Given the description of an element on the screen output the (x, y) to click on. 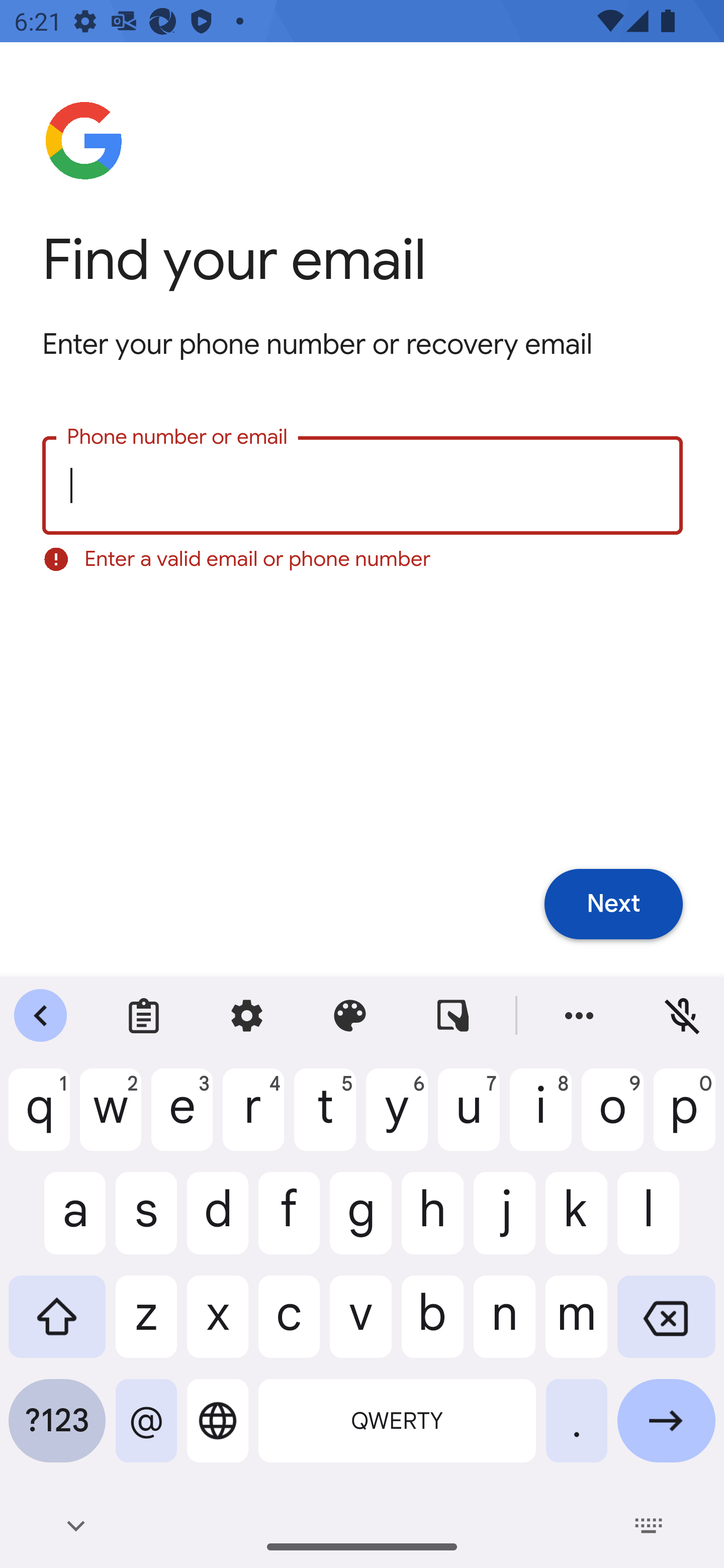
Next (613, 904)
